Given the description of an element on the screen output the (x, y) to click on. 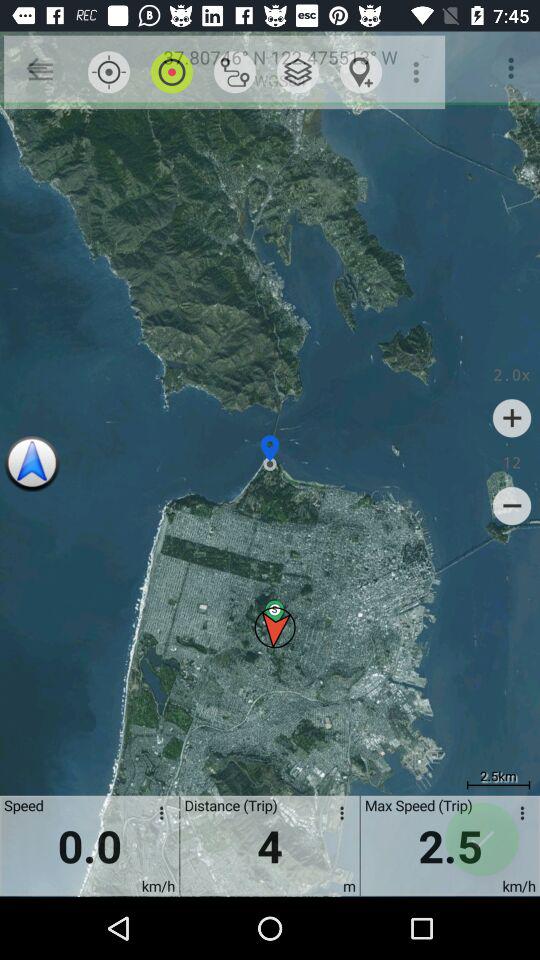
tap item above 0.0 item (171, 71)
